Given the description of an element on the screen output the (x, y) to click on. 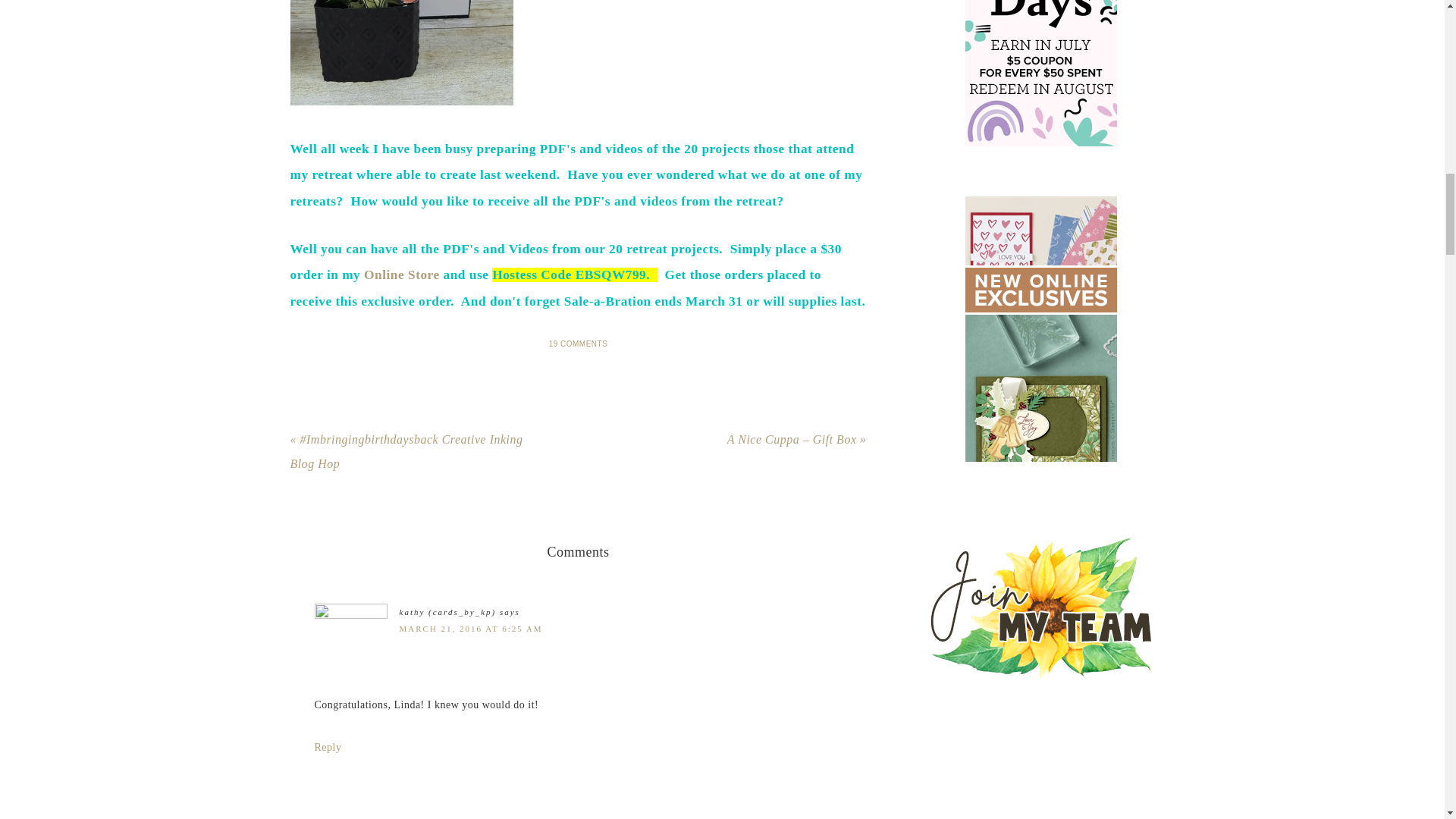
MARCH 21, 2016 AT 6:25 AM (469, 628)
Online Store (401, 274)
19 COMMENTS (578, 343)
Woods Flower Pot Card (400, 52)
Reply (327, 747)
